Given the description of an element on the screen output the (x, y) to click on. 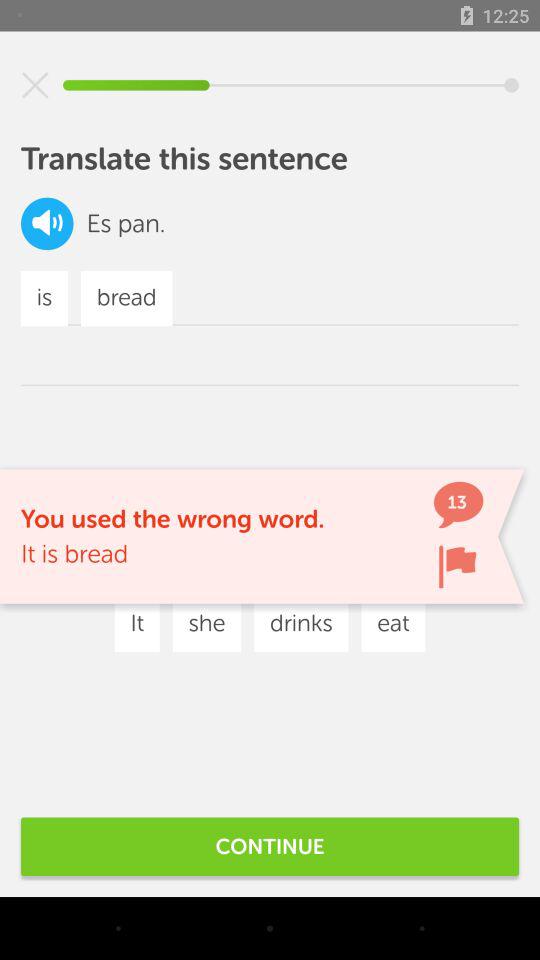
flag (457, 566)
